Given the description of an element on the screen output the (x, y) to click on. 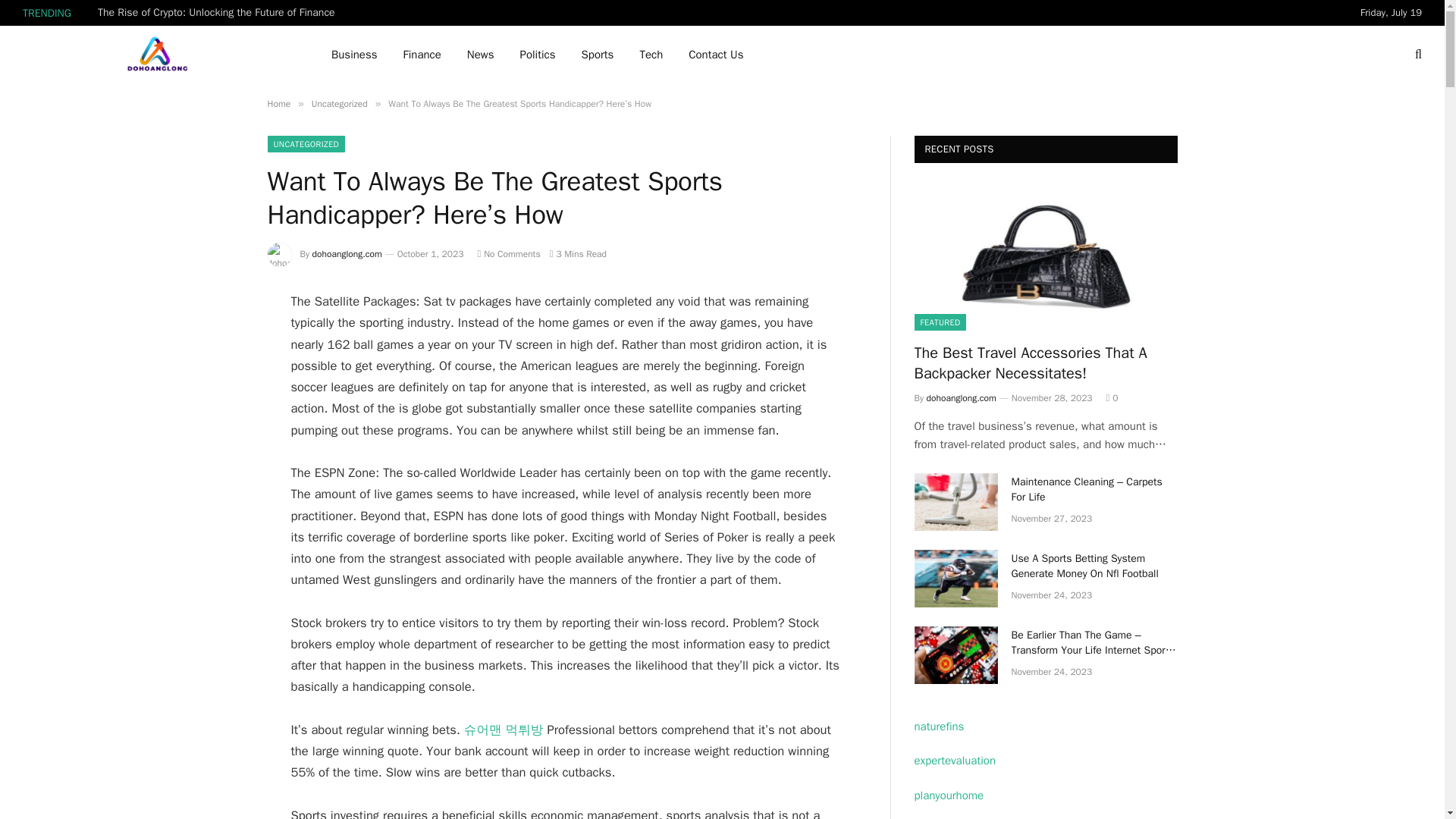
News (480, 54)
Politics (536, 54)
UNCATEGORIZED (305, 143)
Business (354, 54)
The Rise of Crypto: Unlocking the Future of Finance (219, 12)
dohoanglong.com (347, 254)
dohoanglong (157, 54)
Sports (598, 54)
Posts by dohoanglong.com (347, 254)
Uncategorized (339, 103)
Contact Us (715, 54)
Finance (422, 54)
The Best Travel Accessories That A Backpacker Necessitates! (1045, 256)
Home (277, 103)
No Comments (508, 254)
